Given the description of an element on the screen output the (x, y) to click on. 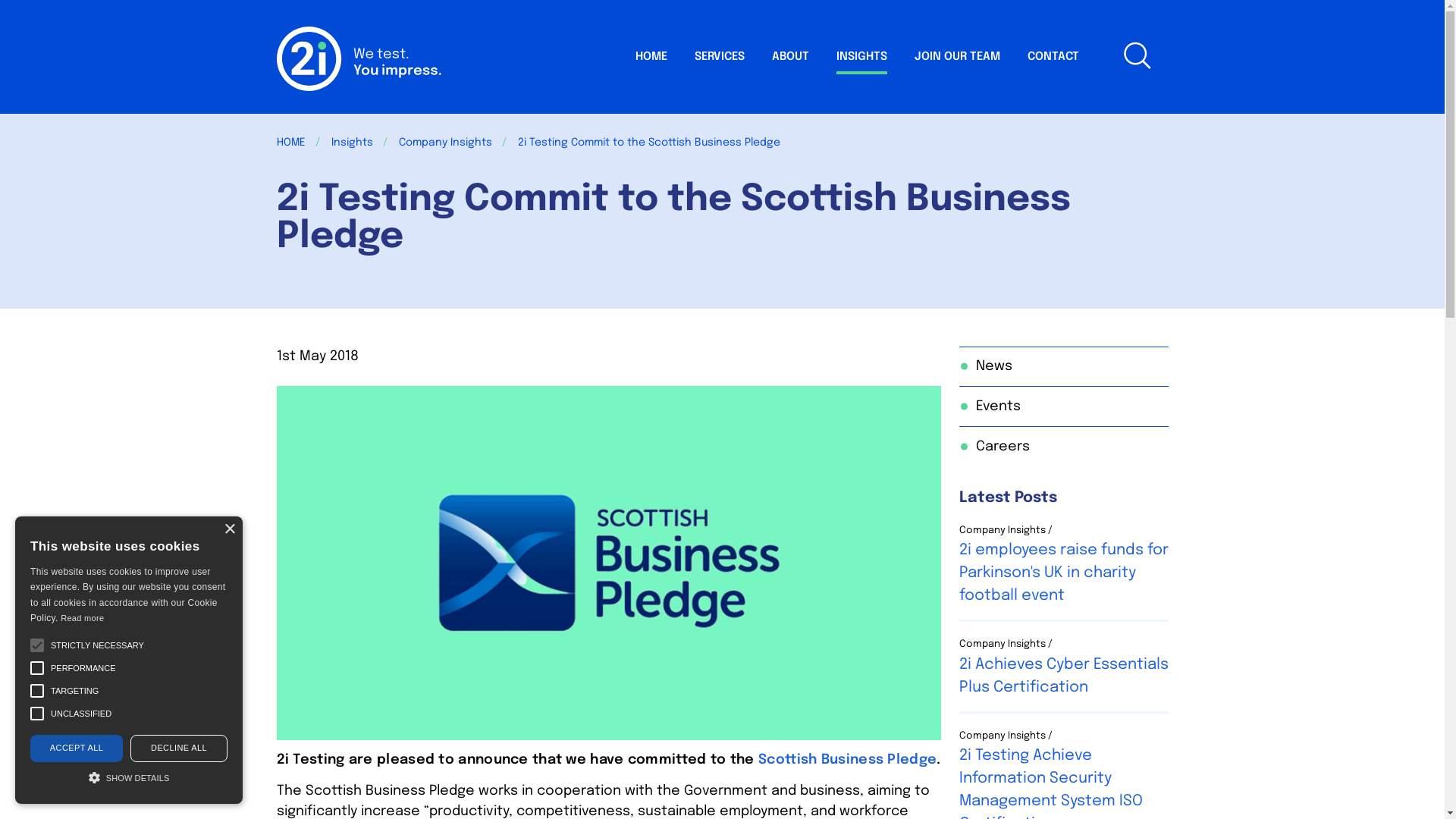
Read more Element type: text (81, 617)
INSIGHTS Element type: text (860, 54)
JOIN OUR TEAM Element type: text (957, 54)
Careers Element type: text (1062, 446)
2i Achieves Cyber Essentials Plus Certification Element type: text (1062, 675)
SERVICES Element type: text (719, 54)
Insights Element type: text (351, 142)
News Element type: text (1062, 366)
CONTACT Element type: text (1052, 54)
Scottish Business Pledge Element type: text (847, 759)
HOME Element type: text (651, 54)
Company Insights Element type: text (445, 142)
Events Element type: text (1062, 406)
HOME Element type: text (290, 142)
ABOUT Element type: text (790, 54)
